Given the description of an element on the screen output the (x, y) to click on. 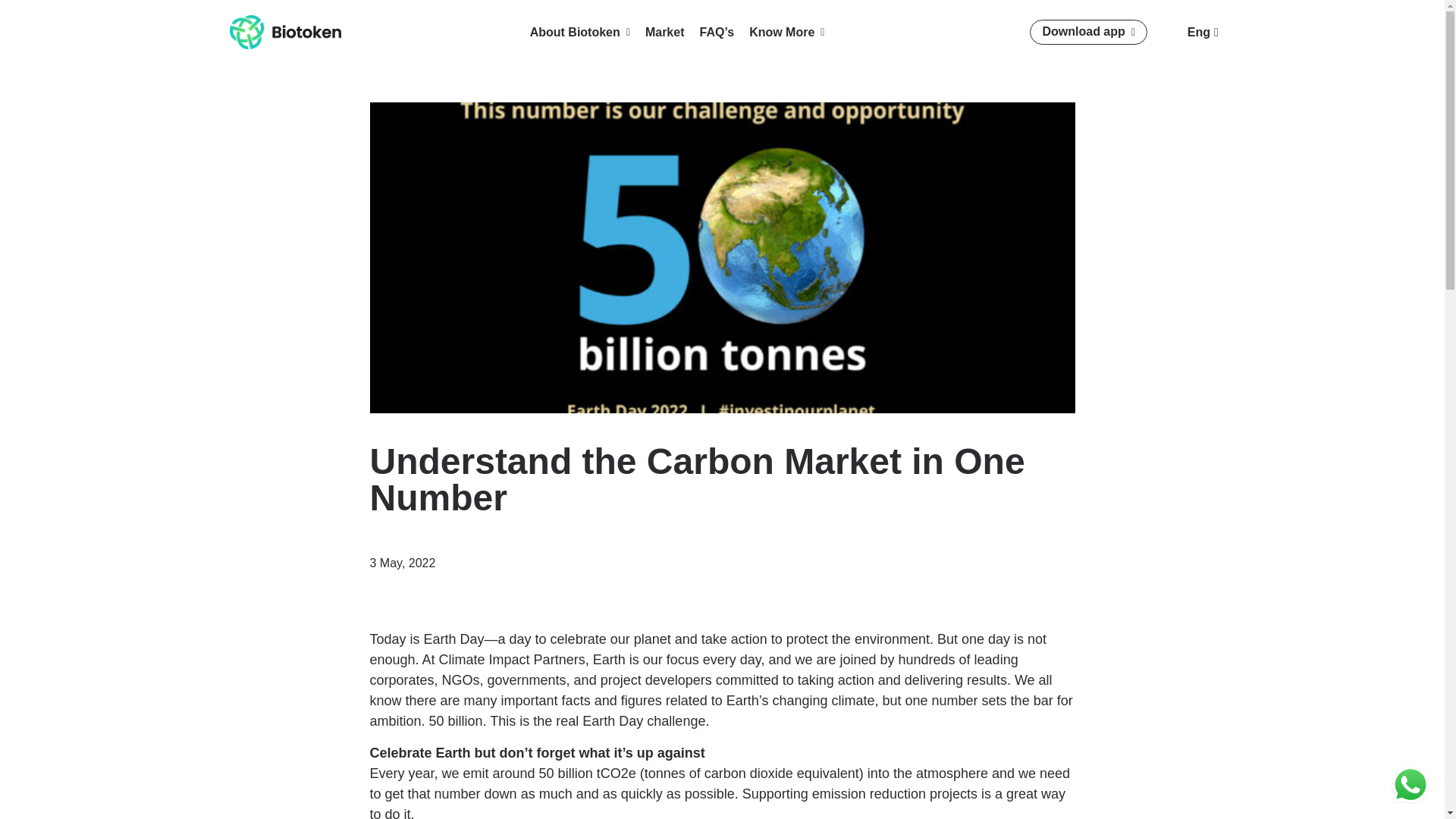
3 May, 2022 (402, 563)
WhatsApp us (1410, 784)
Eng (1201, 31)
Download app (1088, 32)
About Biotoken (579, 32)
Market (664, 32)
Know More (786, 32)
